Given the description of an element on the screen output the (x, y) to click on. 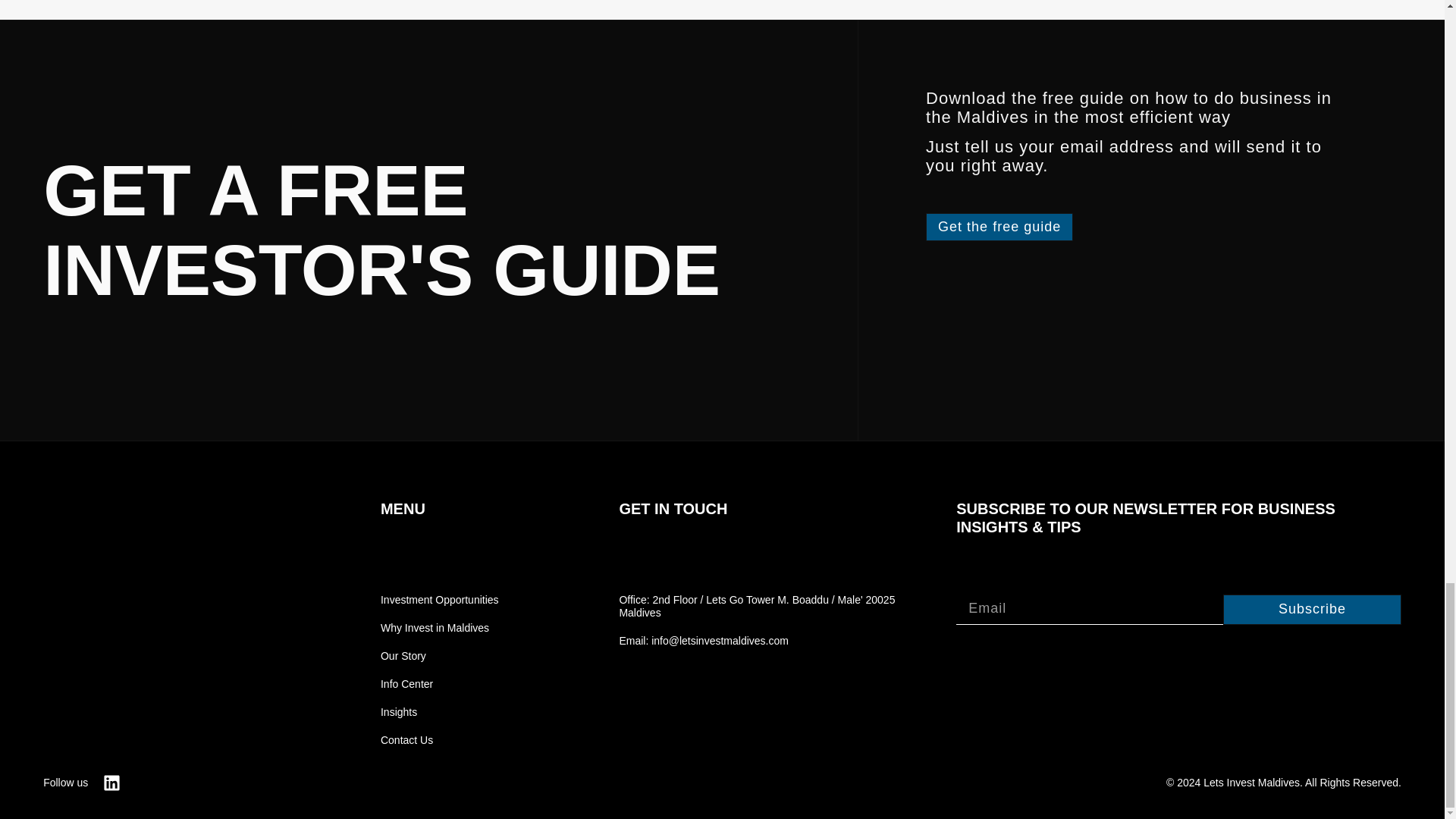
Info Center (479, 684)
Get the free guide (999, 226)
Contact Us (479, 739)
Subscribe (1311, 609)
Insights (479, 712)
Investment Opportunities (479, 599)
Why Invest in Maldives (479, 627)
Our Story (479, 656)
